Given the description of an element on the screen output the (x, y) to click on. 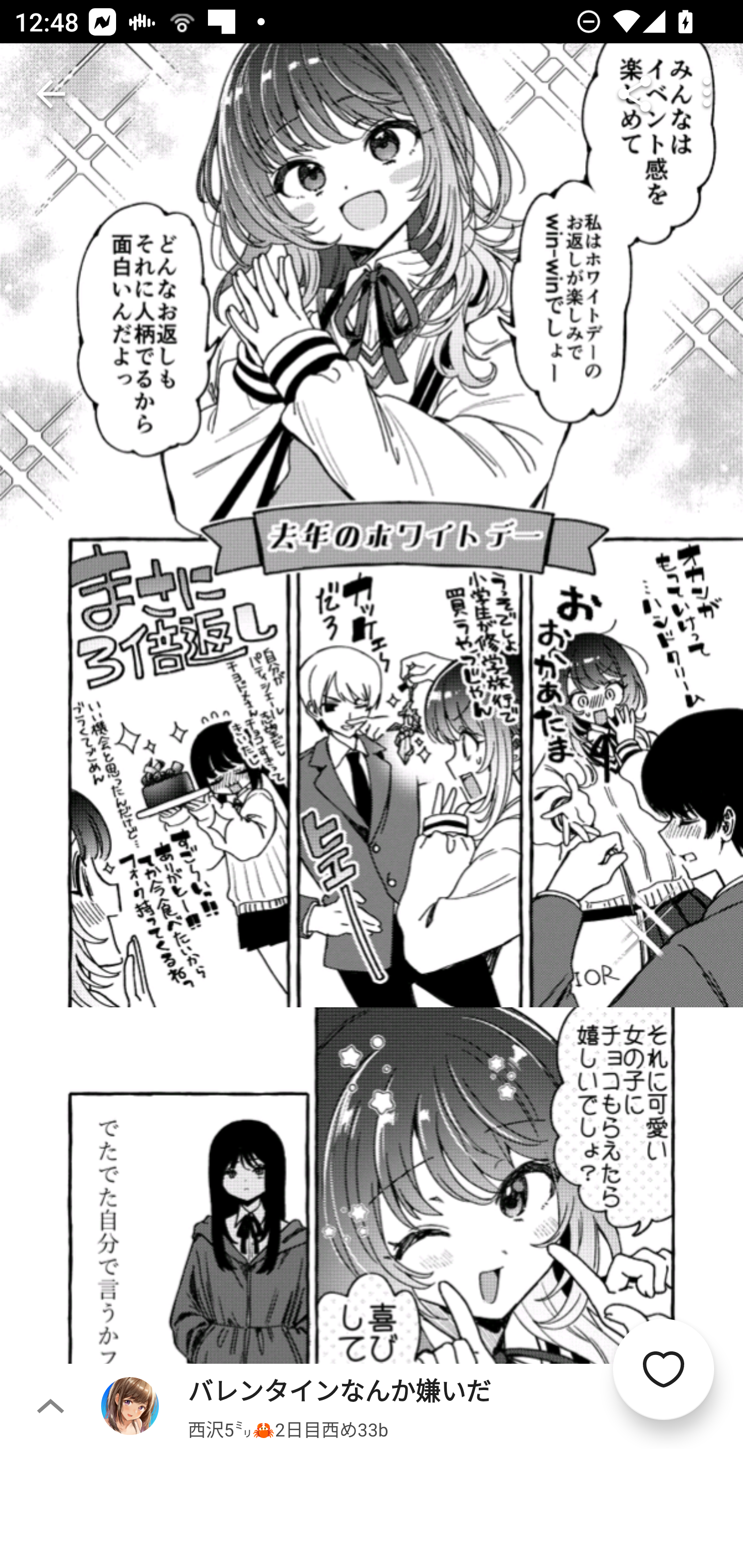
Share (634, 93)
More options (706, 93)
バレンタインなんか嫌いだ 西沢5㍉🦀2日目西め33b (422, 1405)
西沢5㍉🦀2日目西め33b (287, 1427)
